Given the description of an element on the screen output the (x, y) to click on. 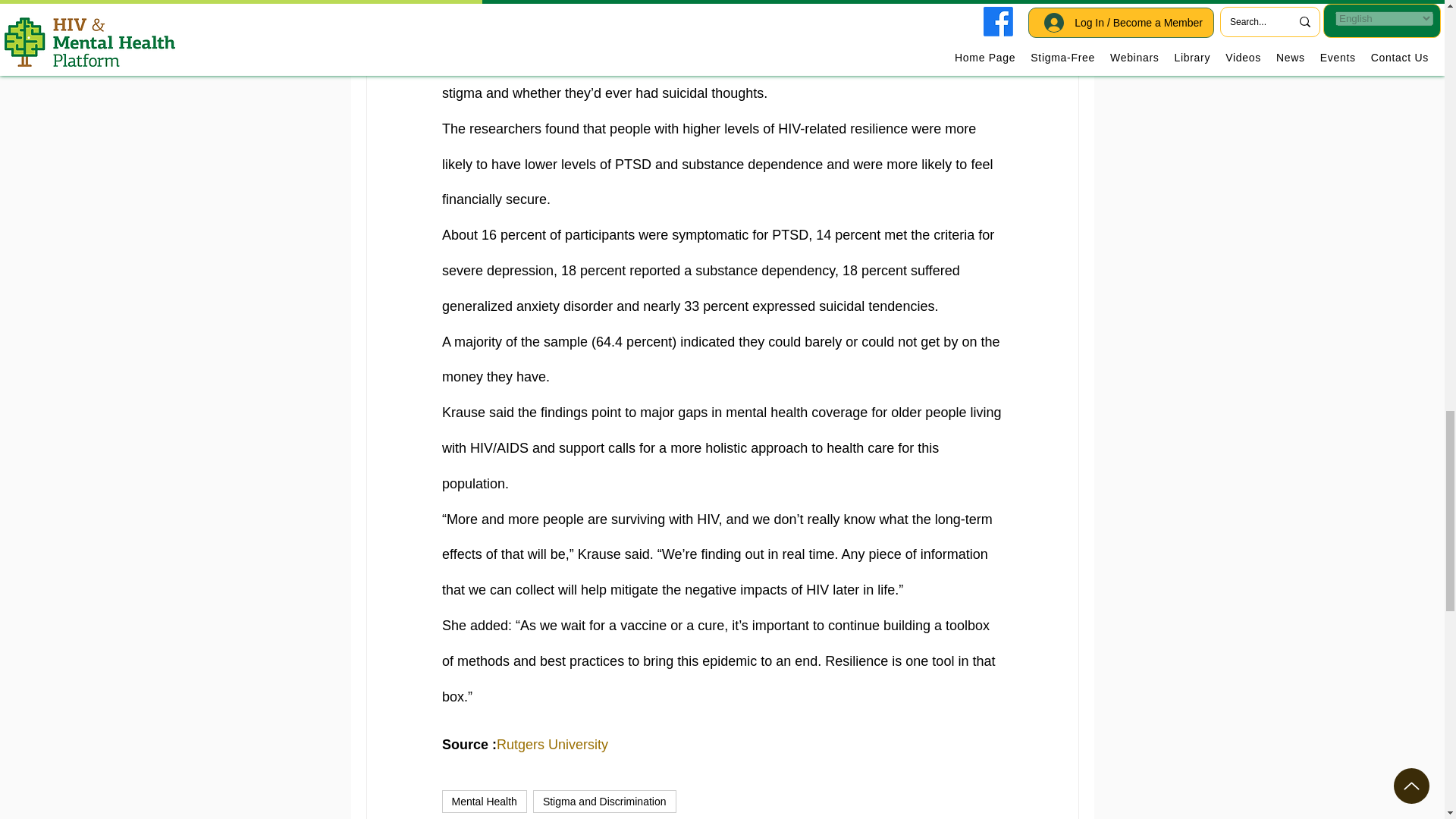
Mental Health (483, 801)
Rutgers University (552, 744)
Stigma and Discrimination (604, 801)
